Given the description of an element on the screen output the (x, y) to click on. 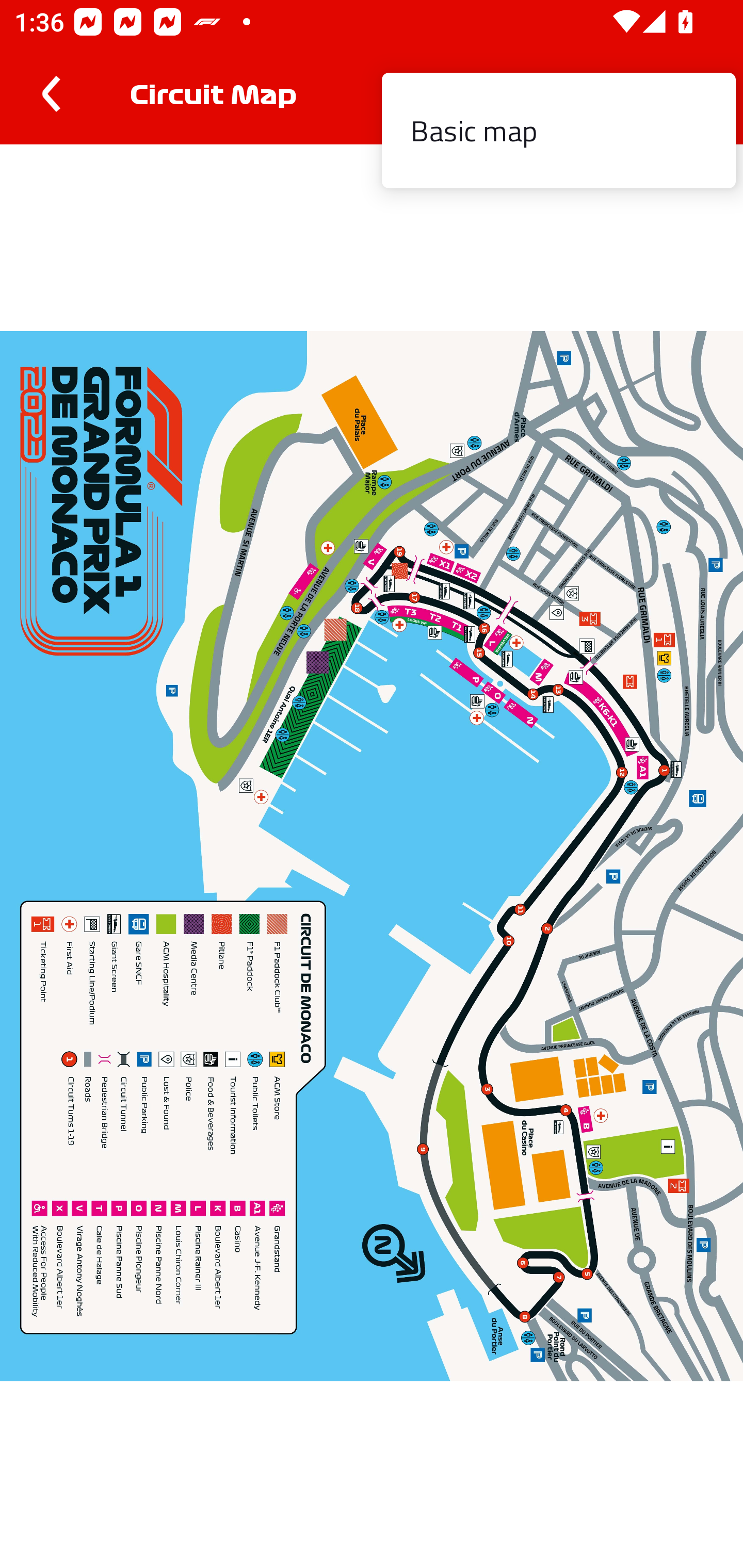
Basic map (558, 130)
